Given the description of an element on the screen output the (x, y) to click on. 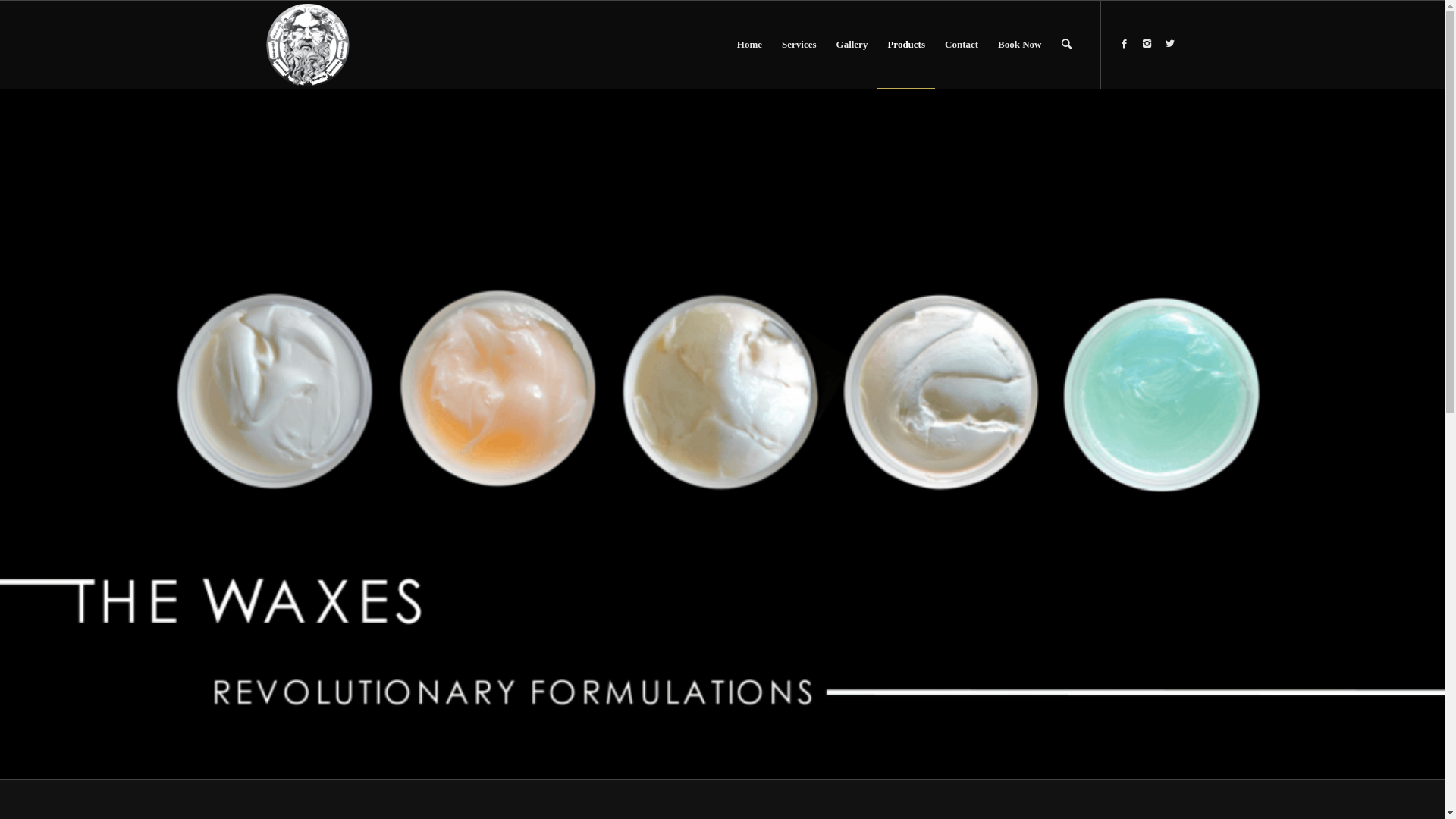
Barber-Culture-Med-Logo-Calgary Element type: hover (307, 44)
Contact Element type: text (961, 44)
Book Now Element type: text (1019, 44)
Products Element type: text (906, 44)
Twitter Element type: hover (1169, 43)
Facebook Element type: hover (1124, 43)
Services Element type: text (798, 44)
Barber-Culture-Hanz-de-Fuzo2 Element type: hover (722, 433)
Instagram Element type: hover (1146, 43)
Gallery Element type: text (852, 44)
Home Element type: text (749, 44)
